Given the description of an element on the screen output the (x, y) to click on. 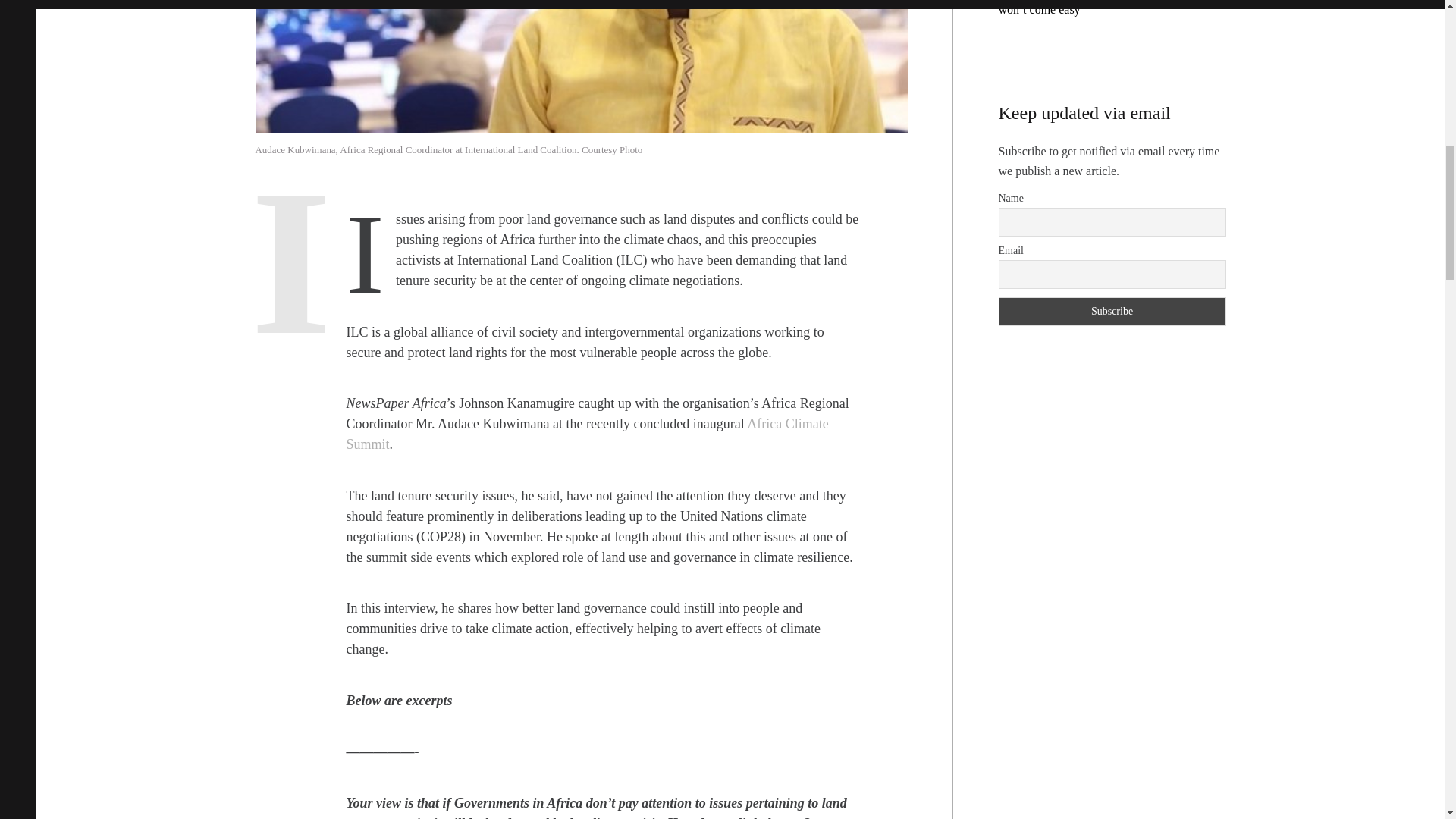
Africa Climate Summit (587, 434)
Subscribe (1111, 311)
